Given the description of an element on the screen output the (x, y) to click on. 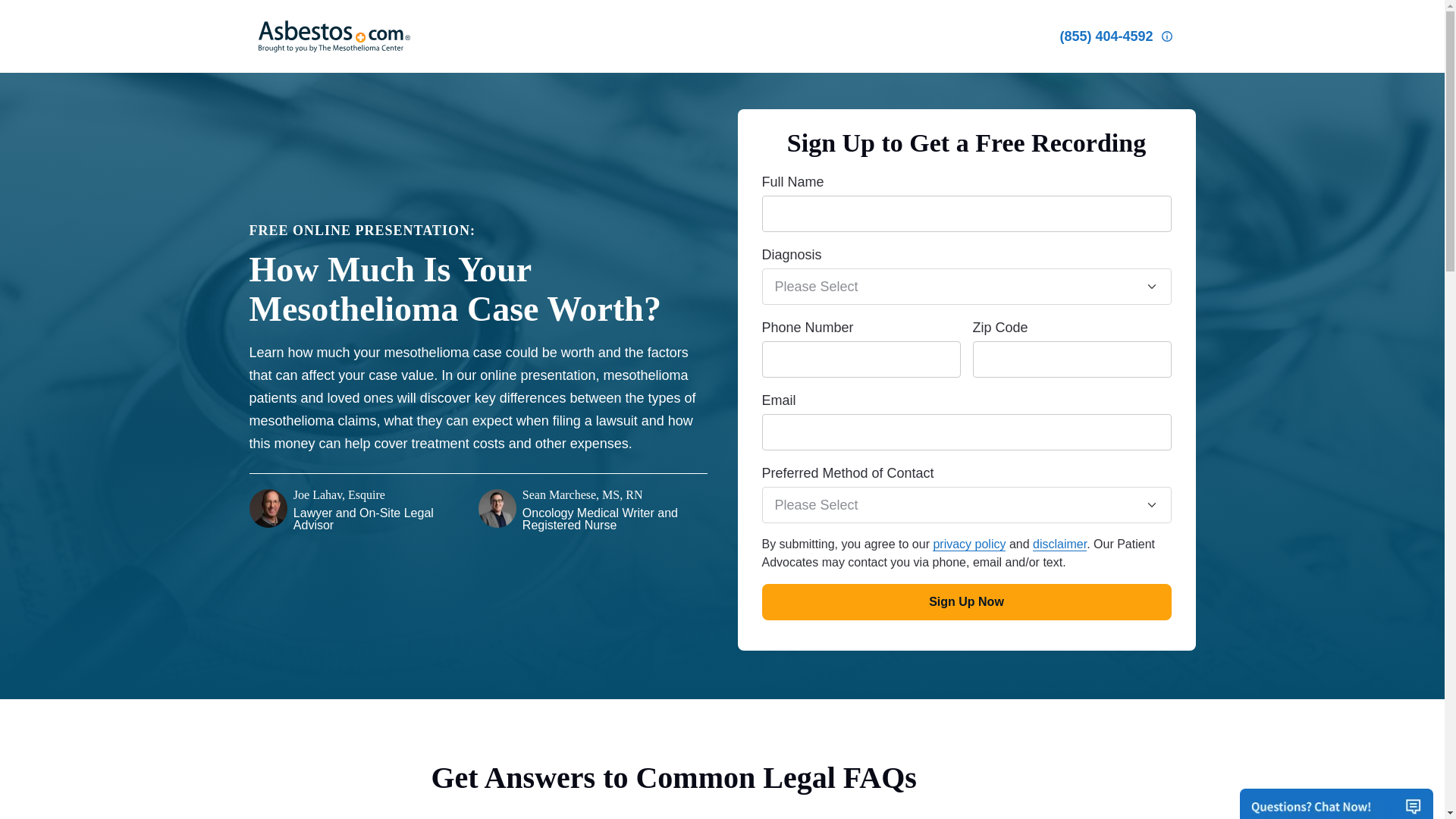
Please enter a 5 digit zip code. Example: 12345 (1071, 359)
